Given the description of an element on the screen output the (x, y) to click on. 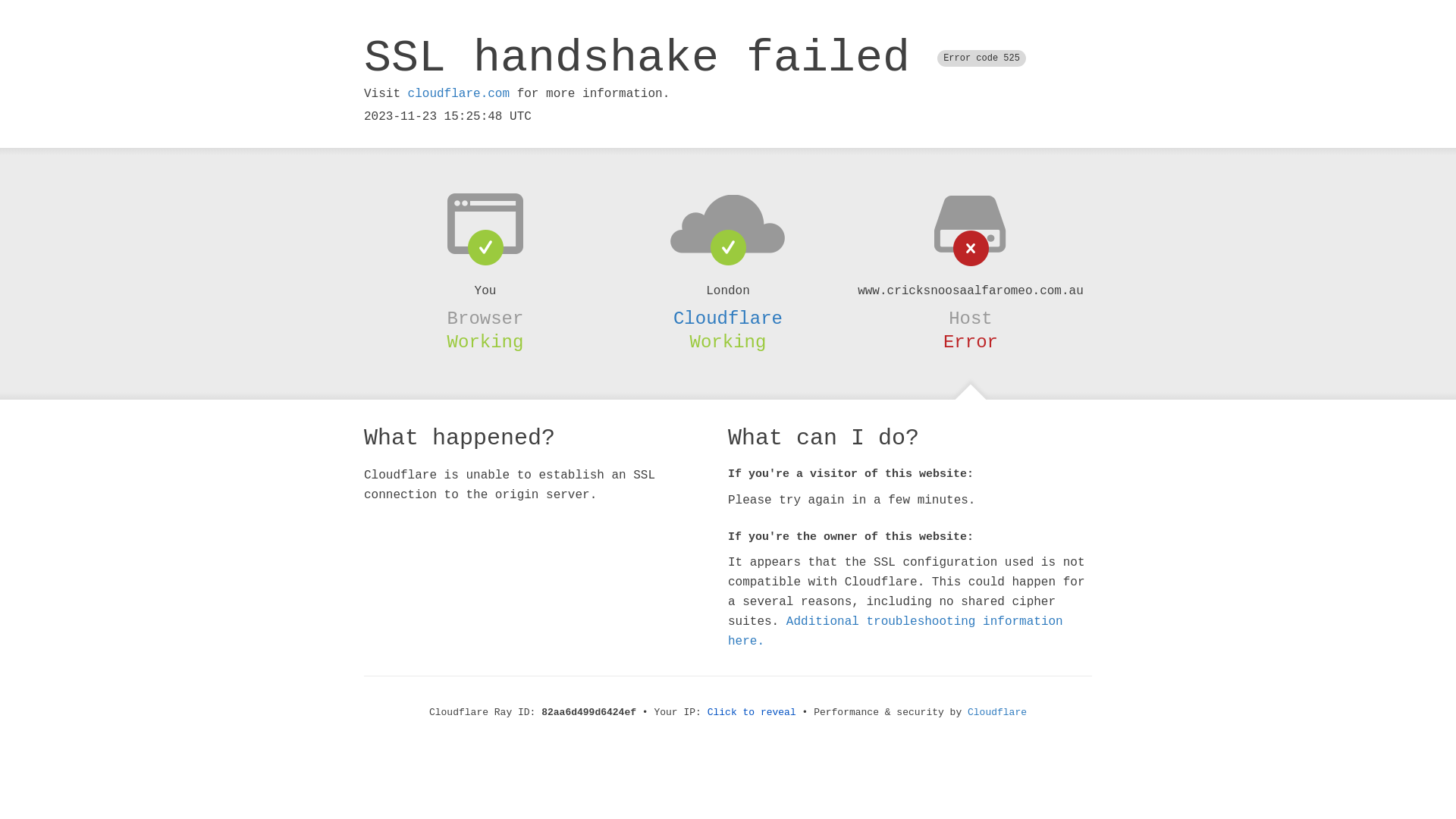
cloudflare.com Element type: text (458, 93)
Cloudflare Element type: text (727, 318)
Additional troubleshooting information here. Element type: text (895, 631)
Cloudflare Element type: text (996, 712)
Click to reveal Element type: text (751, 712)
